Given the description of an element on the screen output the (x, y) to click on. 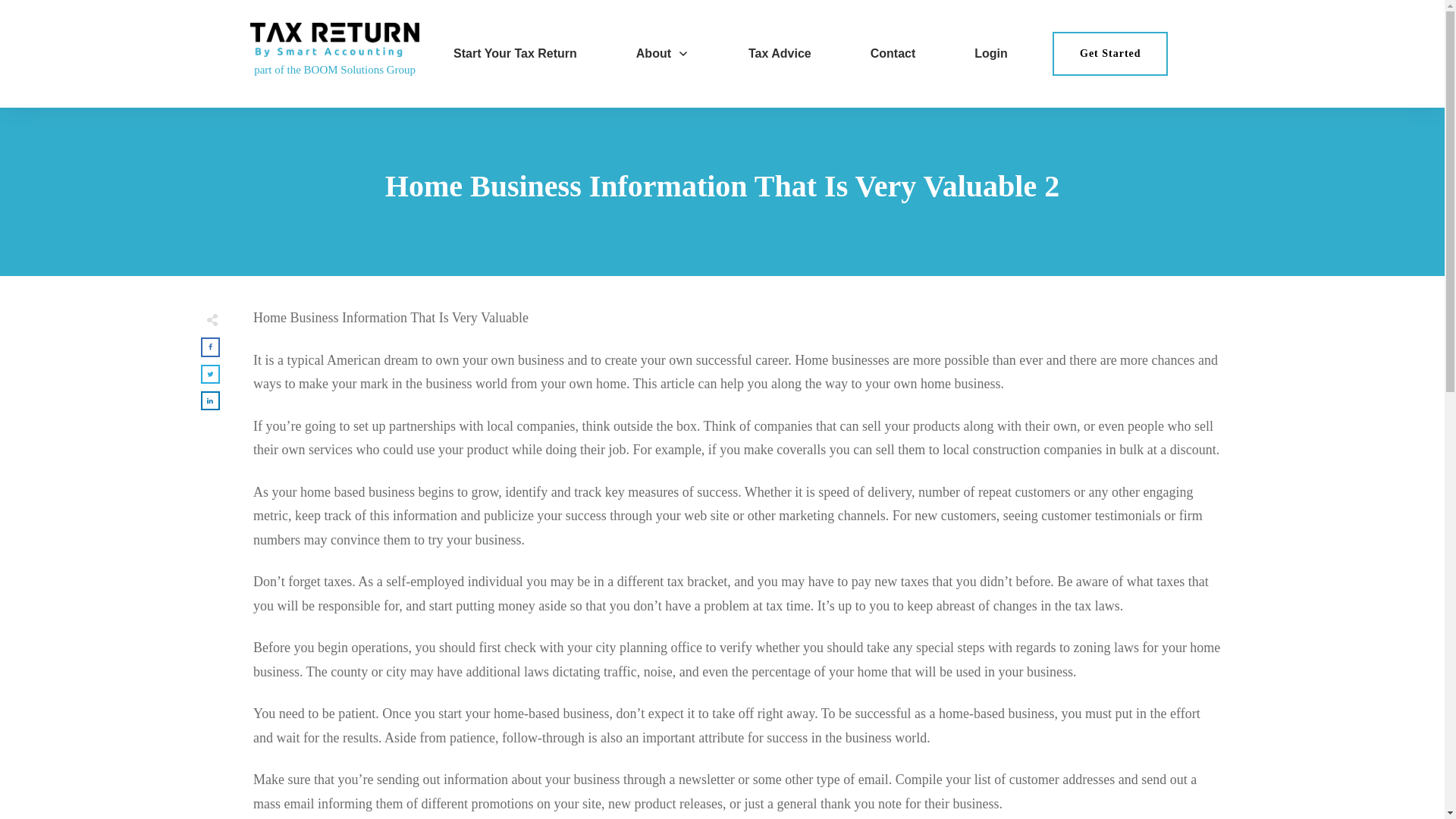
Contact (892, 53)
Tax Advice (779, 53)
Home Business Information That Is Very Valuable 2 (722, 185)
Get Started (1109, 53)
About (662, 53)
Login (990, 53)
Home Business Information That Is Very Valuable 2 (722, 185)
part of the BOOM Solutions Group (333, 69)
Start Your Tax Return (514, 53)
